Given the description of an element on the screen output the (x, y) to click on. 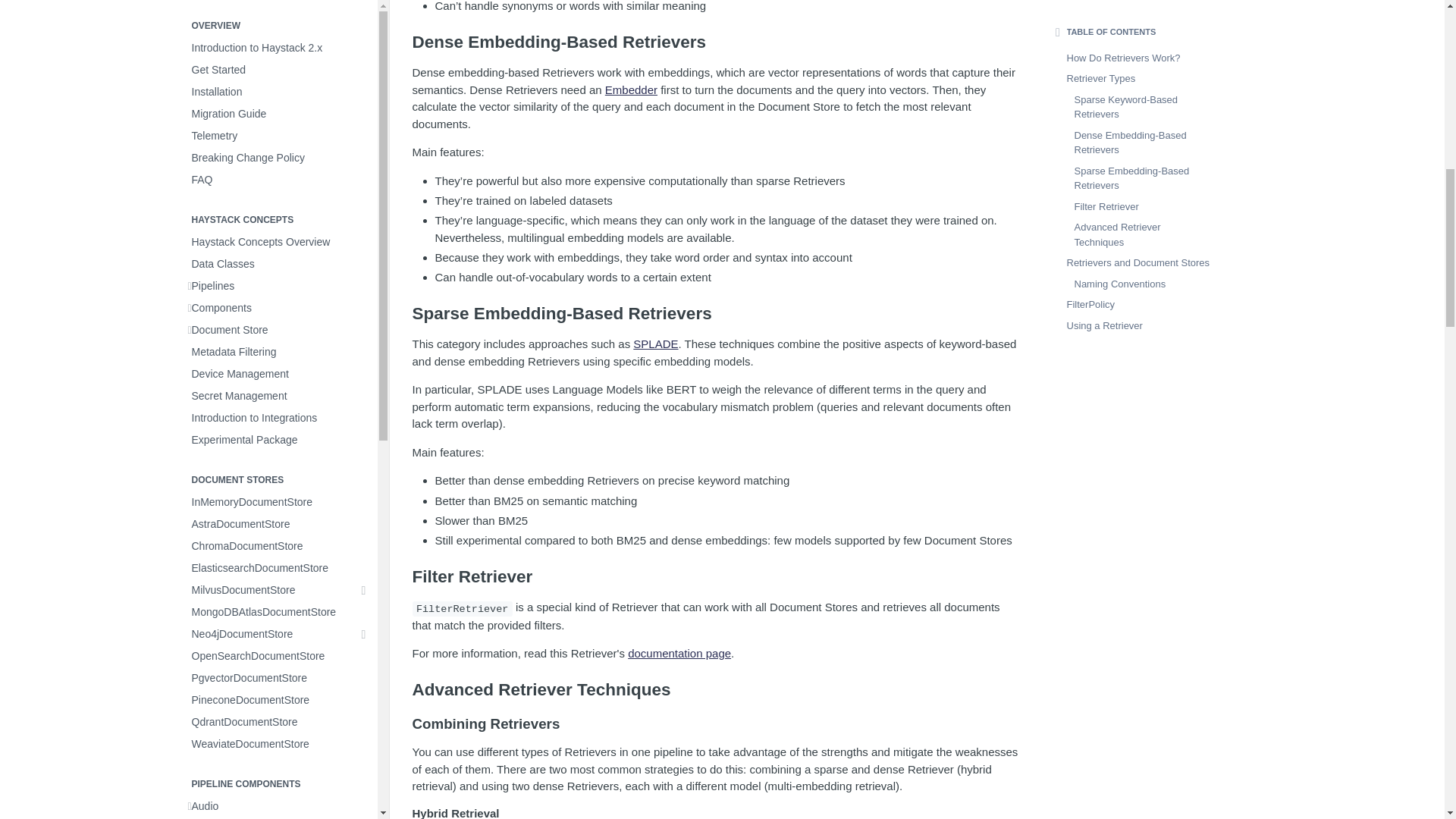
Advanced Retriever Techniques (715, 690)
Dense Embedding-Based Retrievers (715, 42)
Filter Retriever (715, 577)
Combining Retrievers (715, 723)
Sparse Embedding-Based Retrievers (715, 313)
Hybrid Retrieval (715, 812)
